Given the description of an element on the screen output the (x, y) to click on. 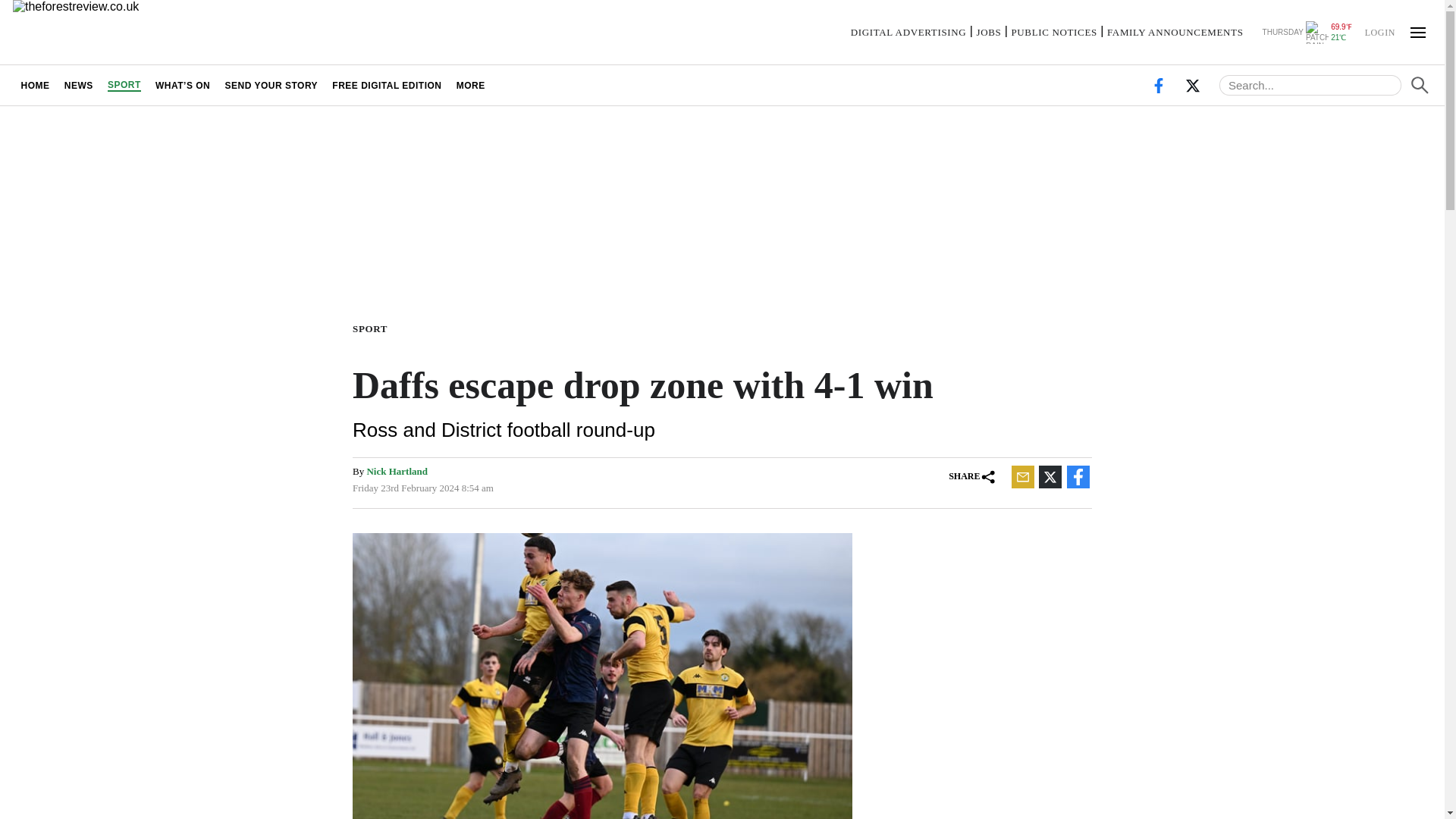
SPORT (124, 85)
NEWS (78, 85)
FAMILY ANNOUNCEMENTS (1174, 32)
SPORT (372, 328)
MORE (470, 85)
FREE DIGITAL EDITION (386, 85)
LOGIN (1379, 31)
SEND YOUR STORY (270, 85)
HOME (34, 85)
Nick Hartland (397, 471)
